Given the description of an element on the screen output the (x, y) to click on. 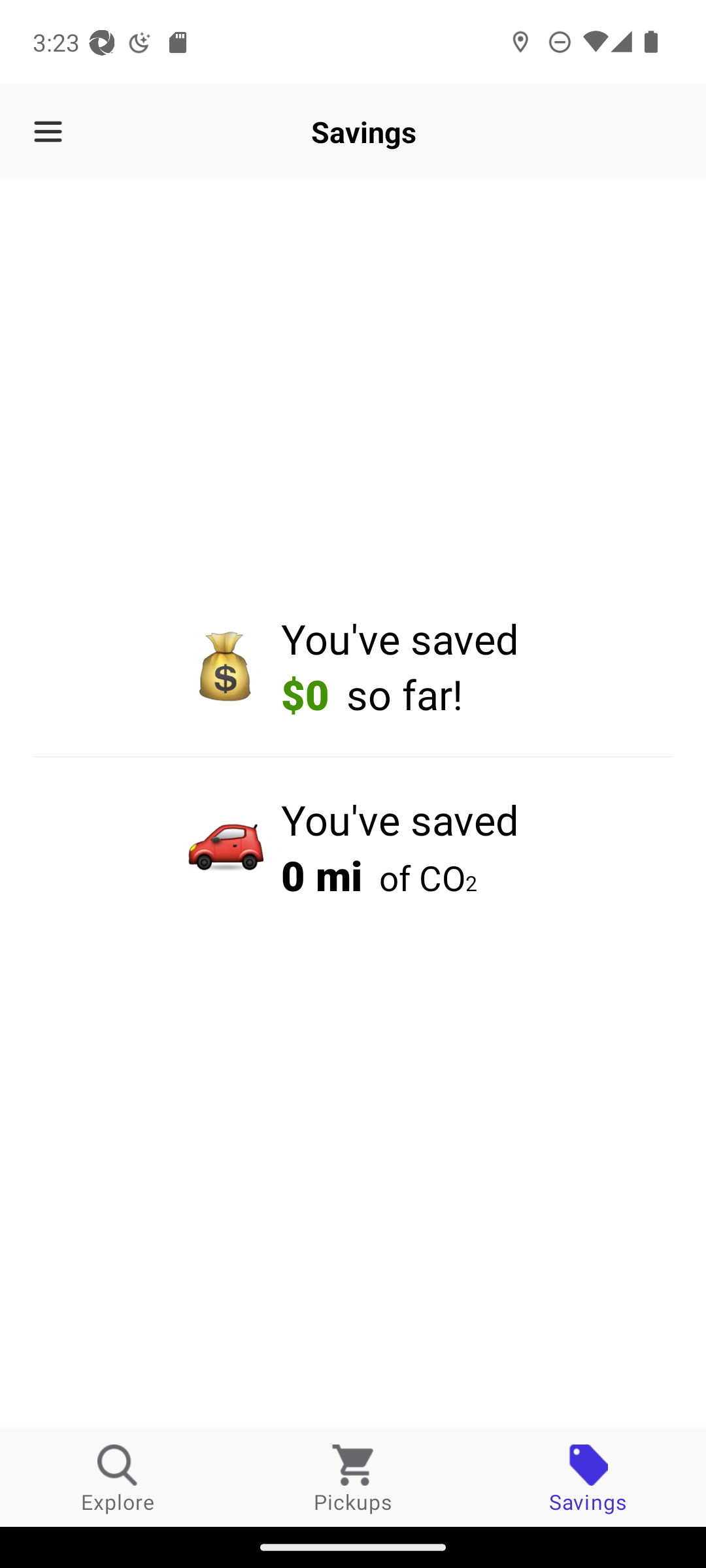
Navigate up (48, 131)
Explore (117, 1478)
Pickups (352, 1478)
